Given the description of an element on the screen output the (x, y) to click on. 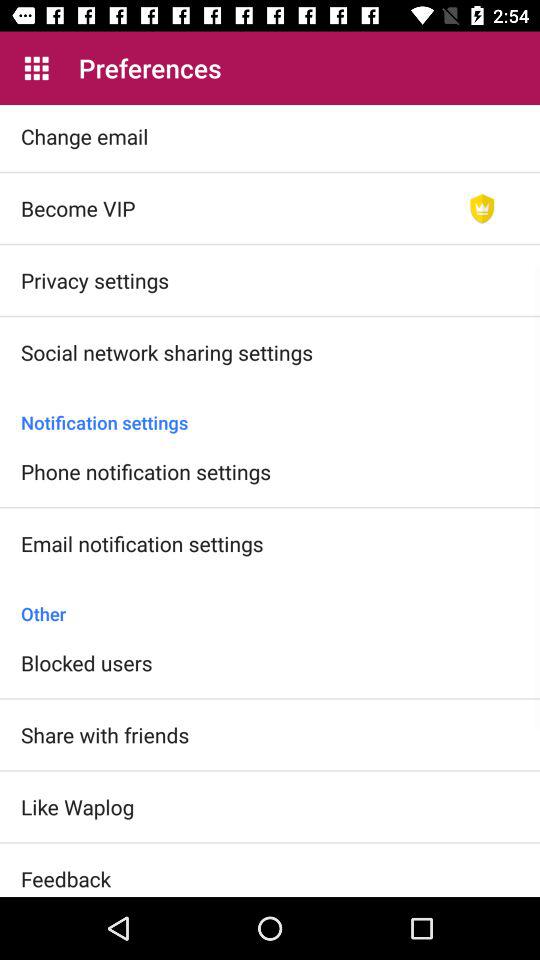
select app to the left of preferences item (36, 68)
